Given the description of an element on the screen output the (x, y) to click on. 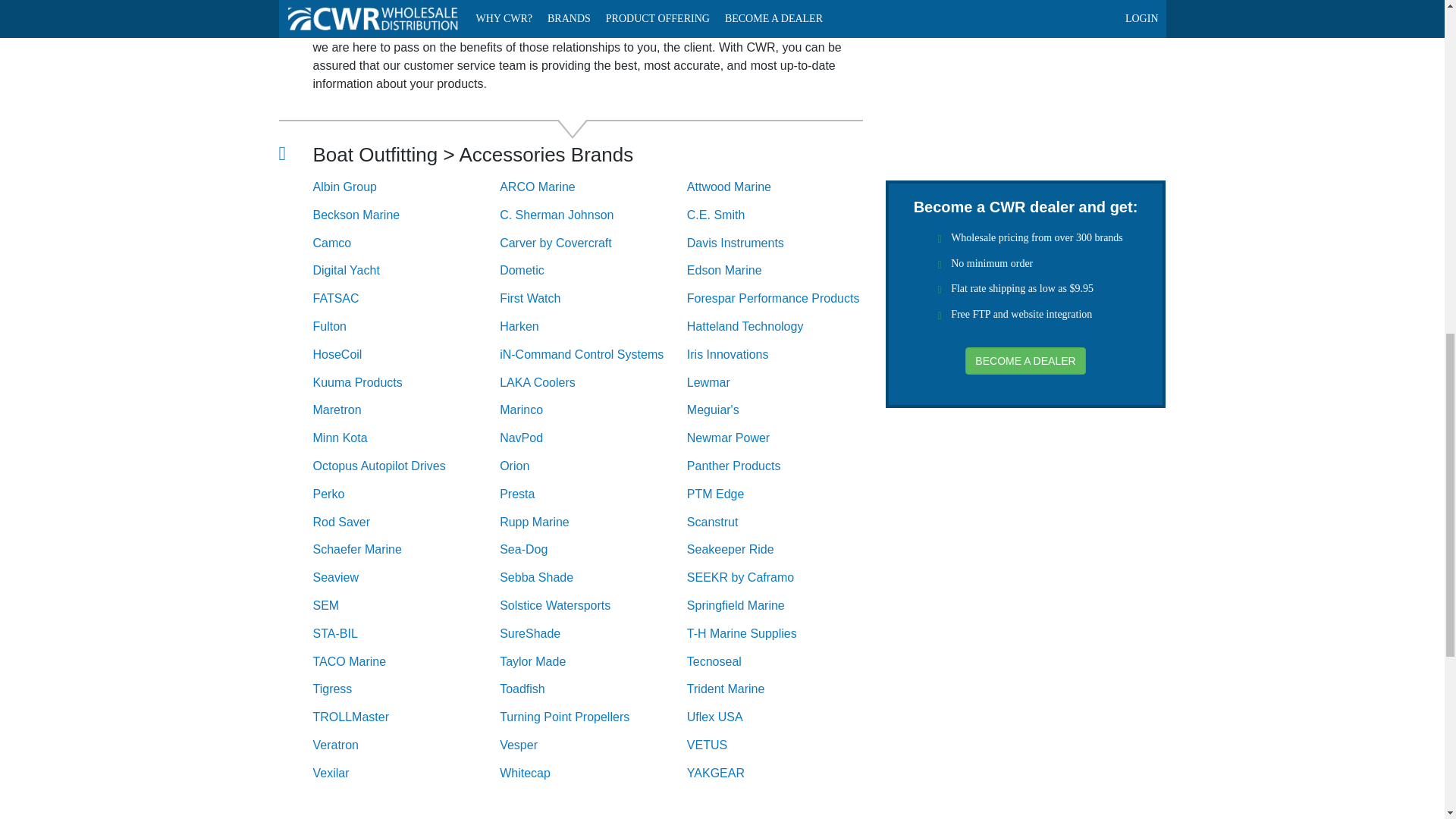
Camco (406, 243)
C. Sherman Johnson (593, 215)
Edson Marine (781, 271)
C.E. Smith (781, 215)
Davis Instruments (781, 243)
Forespar Performance Products (781, 298)
Digital Yacht (406, 271)
First Watch (593, 298)
Carver by Covercraft (593, 243)
Harken (593, 326)
Beckson Marine (406, 215)
Fulton (406, 326)
Hatteland Technology (781, 326)
Attwood Marine (781, 187)
HoseCoil (406, 355)
